Given the description of an element on the screen output the (x, y) to click on. 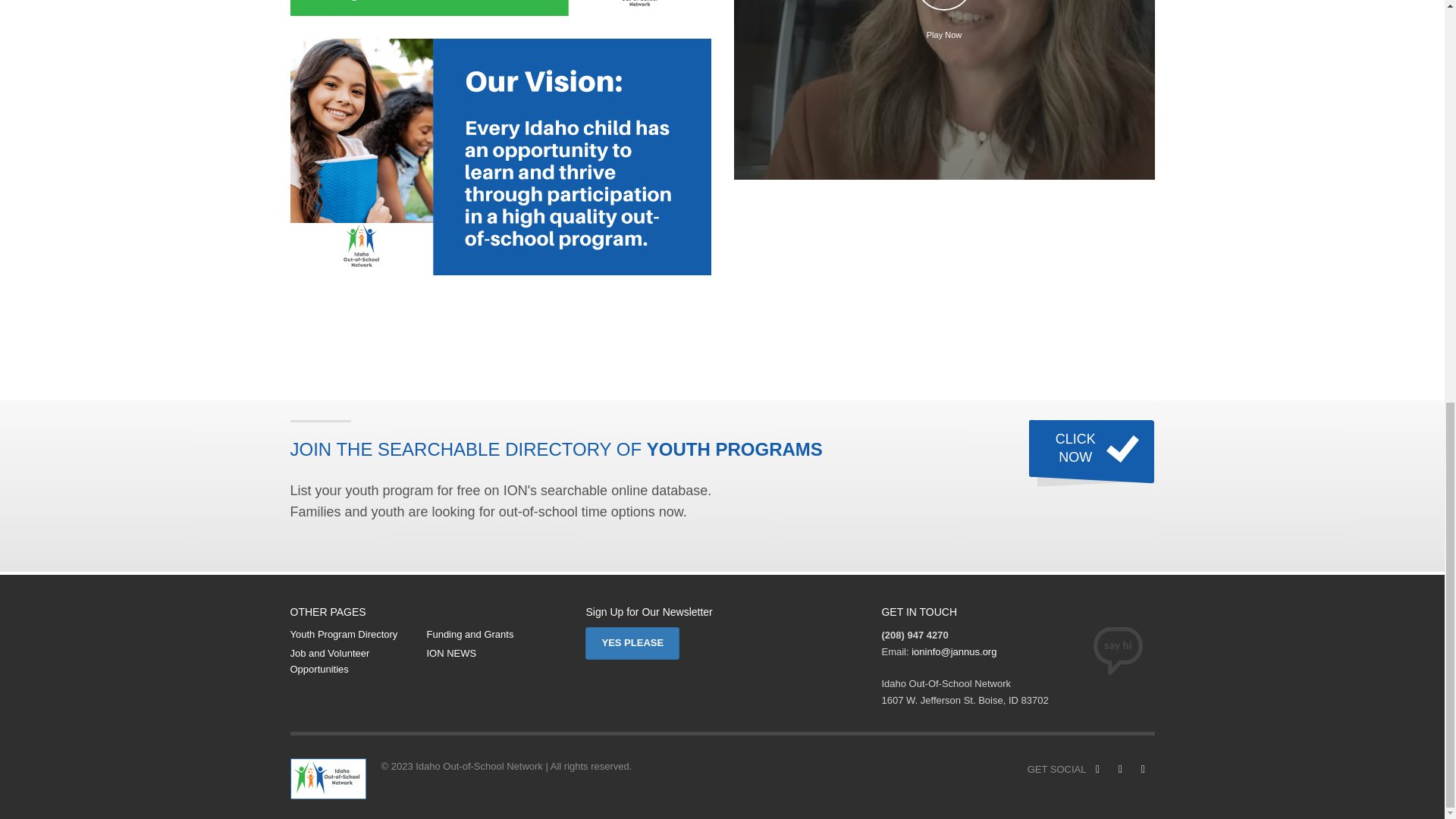
Follow us on Instagram! (1097, 769)
ABOUT ION - Mission Statement (499, 7)
Register your out of school program (1091, 448)
Like us on Facebook! (1119, 769)
Follow our tweets! (1142, 769)
ABOUT ION - Vision Statement (499, 156)
